Given the description of an element on the screen output the (x, y) to click on. 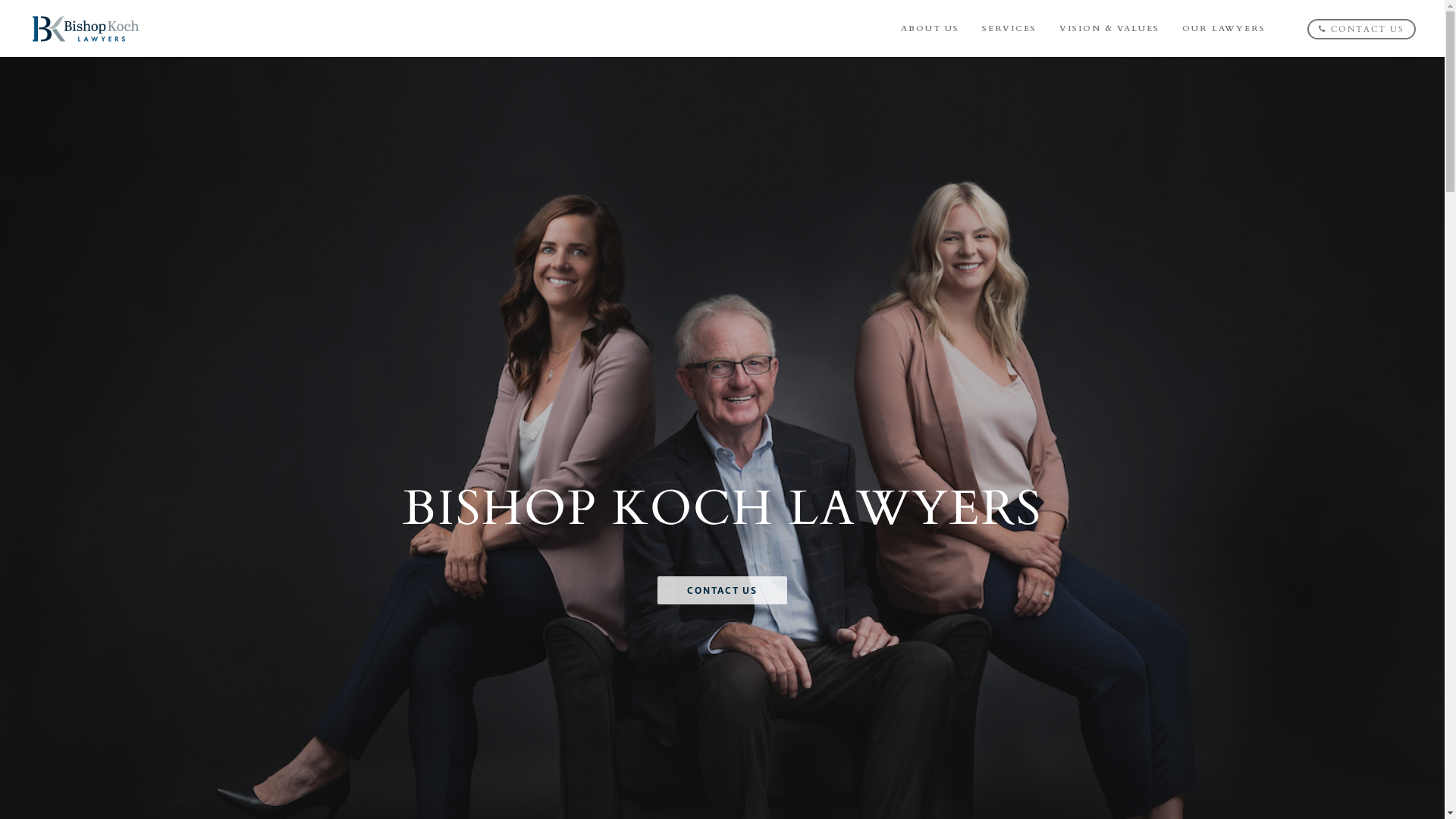
CONTACT US Element type: text (722, 590)
OUR LAWYERS Element type: text (1223, 28)
VISION & VALUES Element type: text (1109, 28)
Bishop Koch Lawyers Element type: hover (85, 28)
CONTACT US Element type: text (1361, 28)
SERVICES Element type: text (1009, 28)
ABOUT US Element type: text (929, 28)
